Given the description of an element on the screen output the (x, y) to click on. 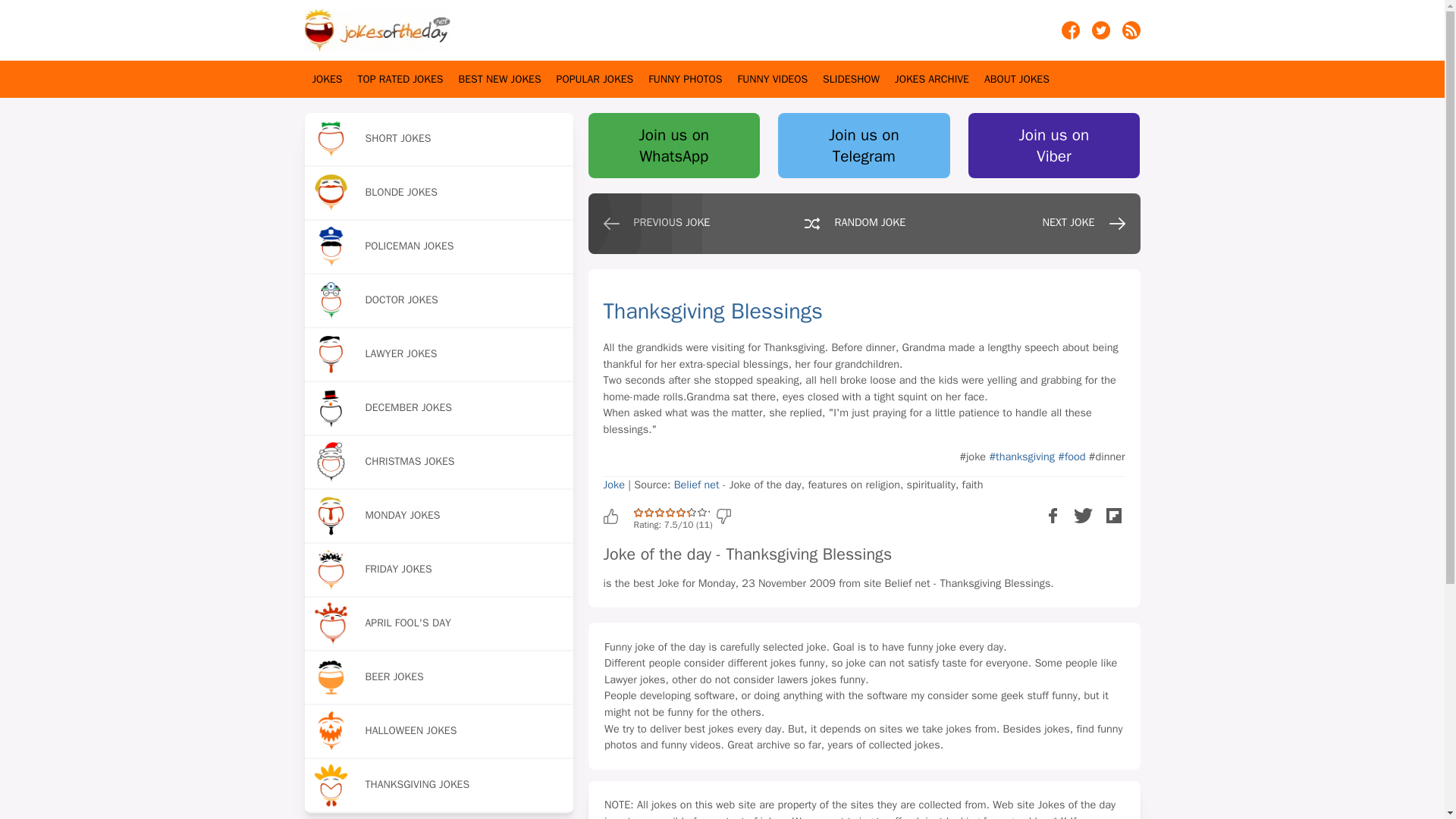
Funny Photos (684, 78)
Popular Jokes (594, 78)
JOKES (327, 78)
FUNNY VIDEOS (772, 78)
Belief net (696, 484)
NEXT JOKE (1068, 227)
About Jokes (1016, 78)
Funny Videos (772, 78)
Slideshow (850, 78)
Joke (614, 484)
Jokes (327, 78)
POPULAR JOKES (594, 78)
ABOUT JOKES (1016, 78)
RANDOM JOKE (860, 227)
Jokes Of The Day (376, 29)
